Given the description of an element on the screen output the (x, y) to click on. 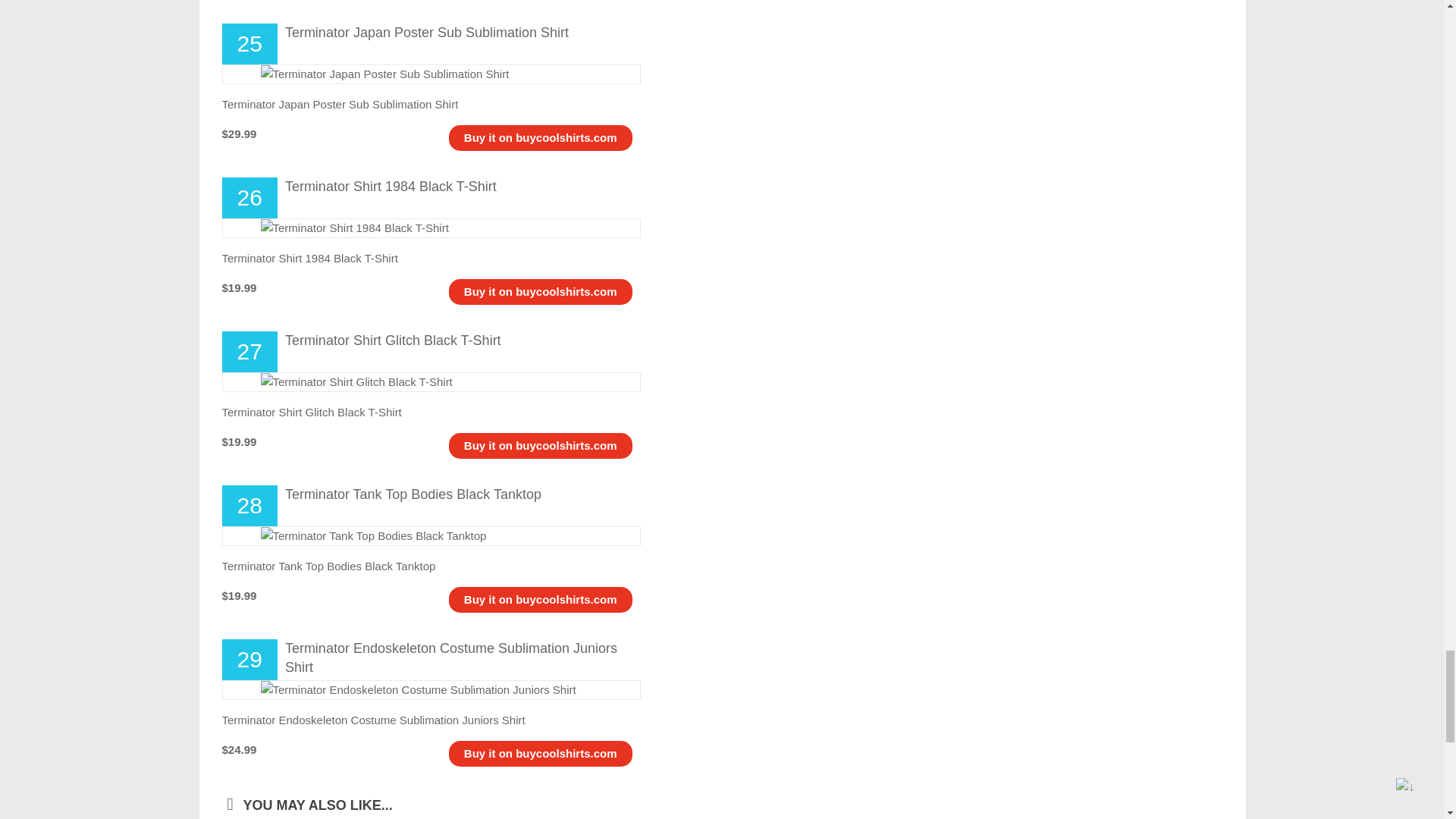
Buy it on buycoolshirts.com (540, 753)
Buy it on buycoolshirts.com (540, 599)
Buy it on buycoolshirts.com (540, 291)
Buy it on buycoolshirts.com (540, 137)
Buy it on buycoolshirts.com (540, 445)
